Given the description of an element on the screen output the (x, y) to click on. 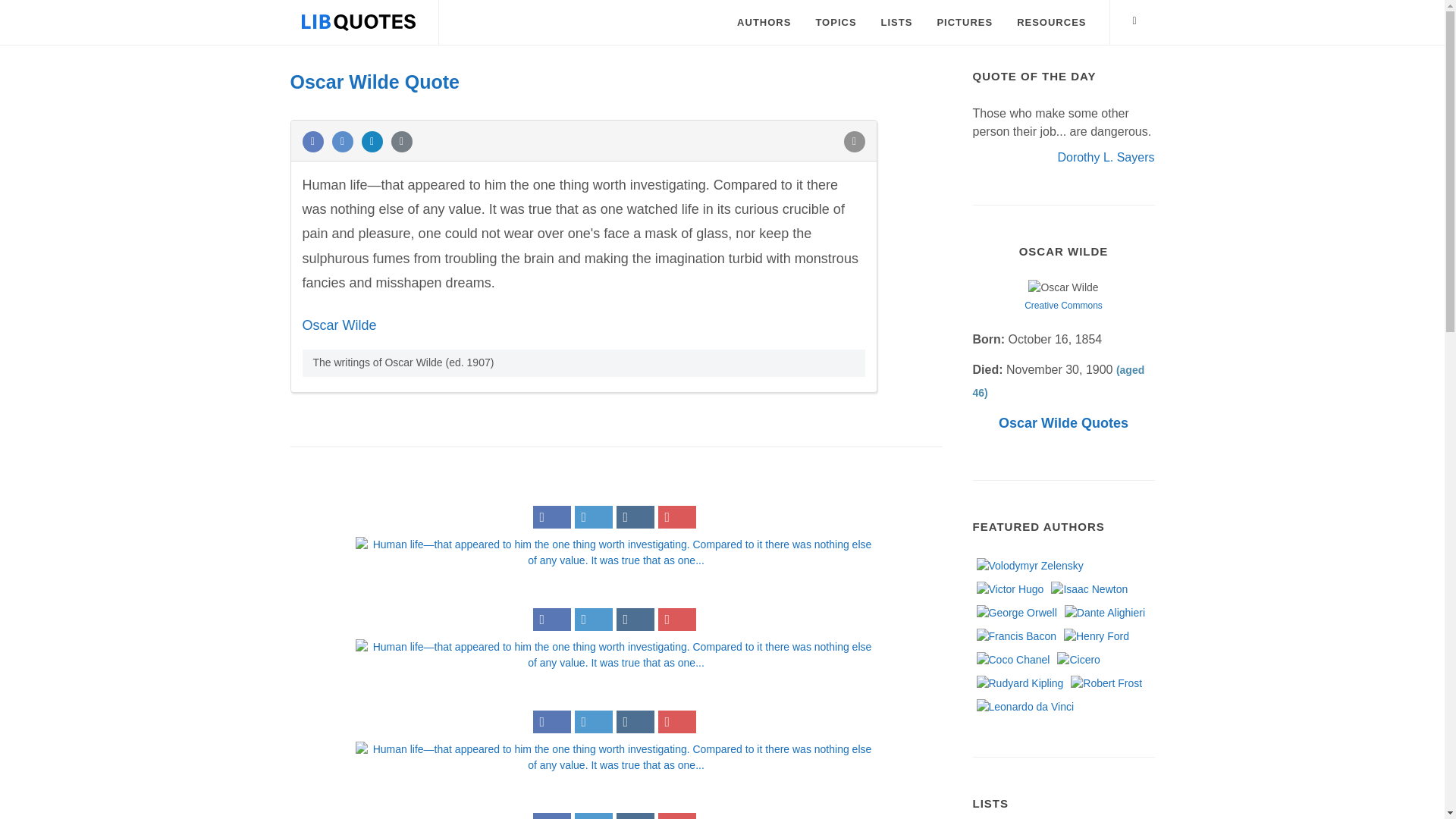
Dorothy L. Sayers (1105, 155)
Oscar Wilde Quotes (1063, 422)
Creative Commons (1063, 305)
LISTS (896, 22)
RESOURCES (1051, 22)
AUTHORS (763, 22)
Oscar Wilde (338, 324)
TOPICS (835, 22)
PICTURES (964, 22)
